Given the description of an element on the screen output the (x, y) to click on. 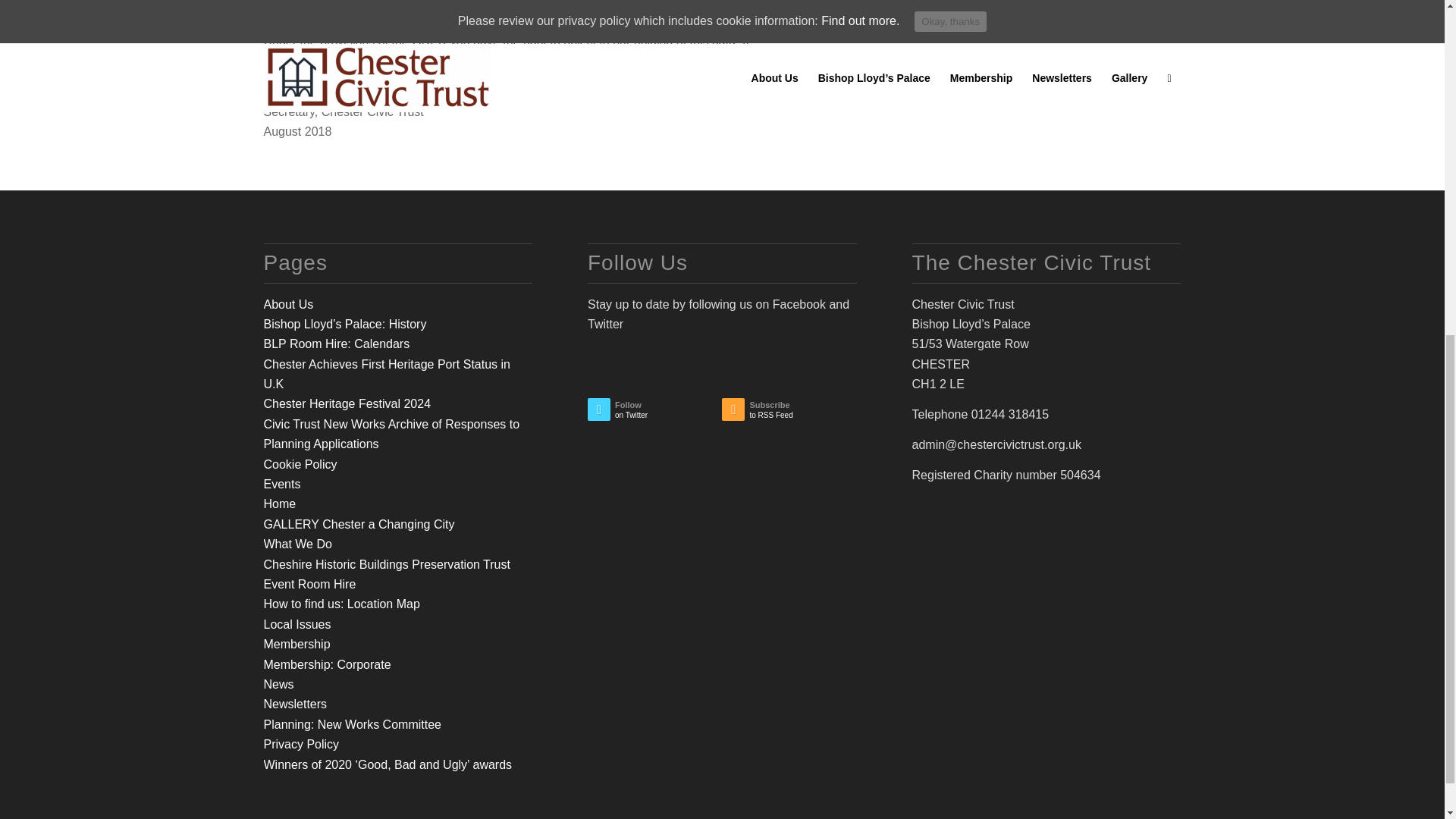
Events (282, 483)
BLP Room Hire: Calendars (336, 343)
News (278, 684)
Newsletters (295, 703)
Local Issues (297, 624)
Cheshire Historic Buildings Preservation Trust (387, 563)
How to find us: Location Map (341, 603)
Home (280, 503)
Event Room Hire (309, 584)
Membership (296, 644)
Cookie Policy (300, 463)
Chester Achieves First Heritage Port Status in U.K (387, 373)
What We Do (297, 543)
Membership: Corporate (327, 664)
